Given the description of an element on the screen output the (x, y) to click on. 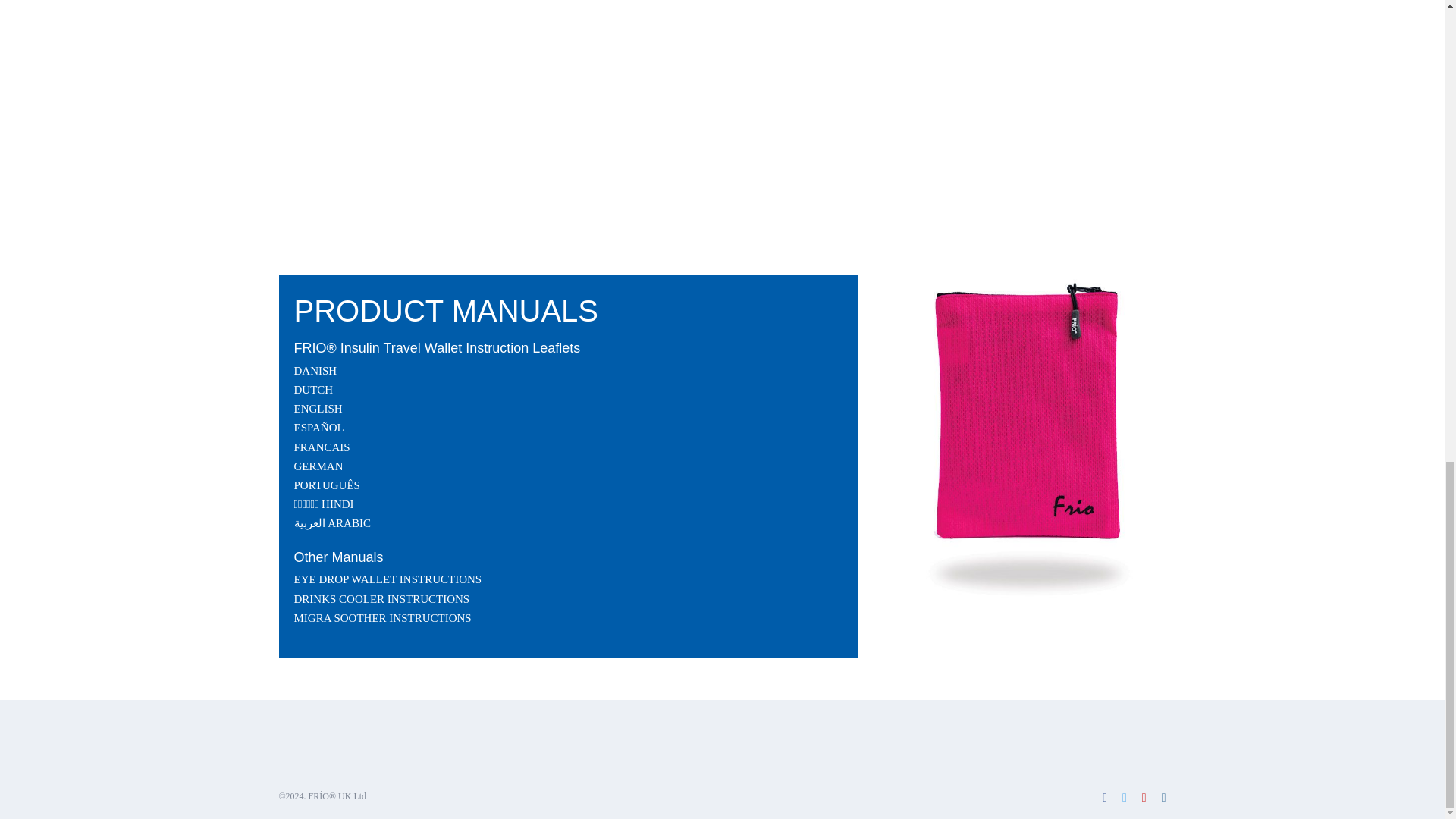
vimeo244853710 (521, 113)
